Given the description of an element on the screen output the (x, y) to click on. 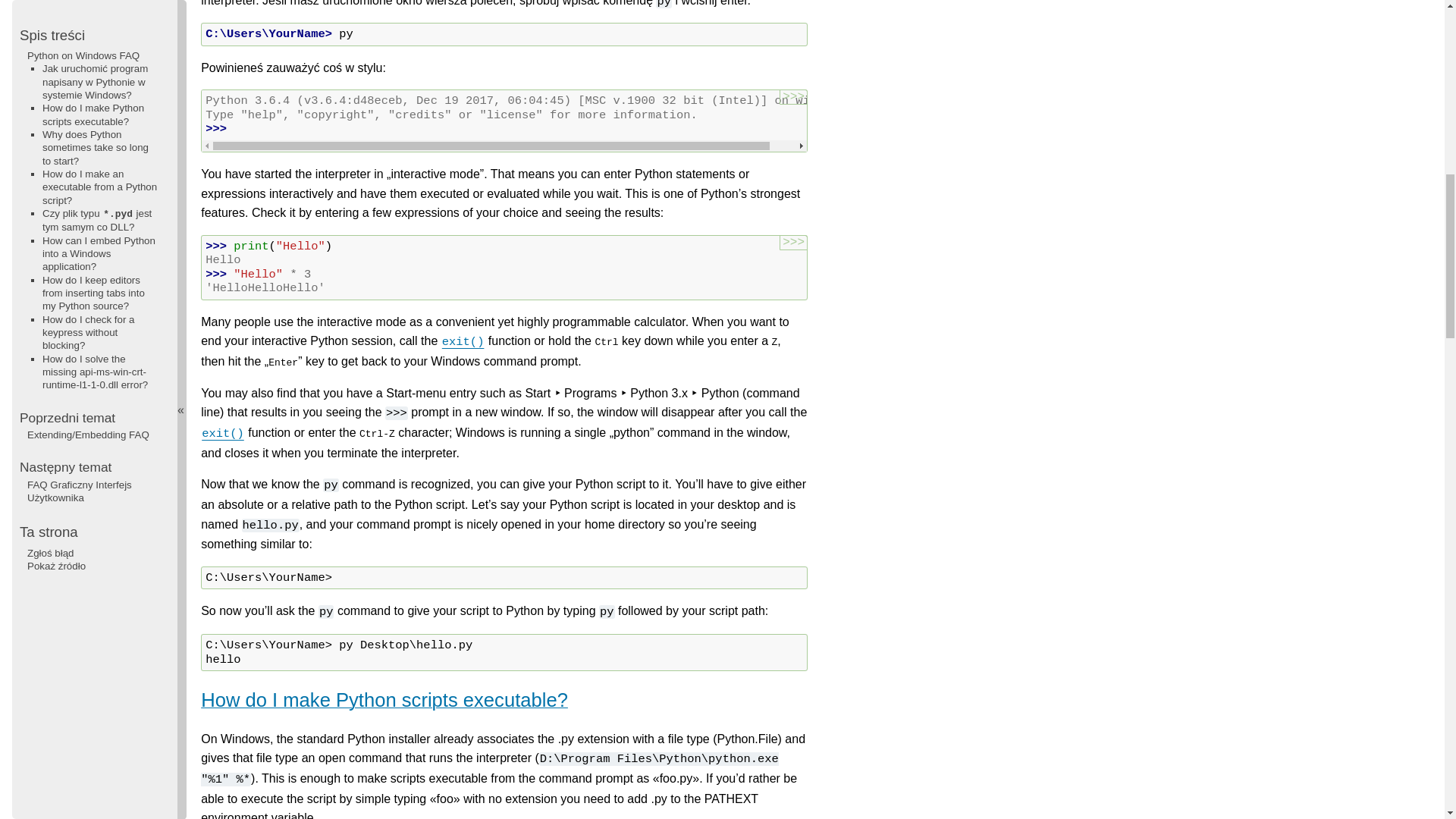
Hide the prompts and output (793, 96)
exit (462, 340)
Hide the prompts and output (793, 242)
exit (222, 431)
